Given the description of an element on the screen output the (x, y) to click on. 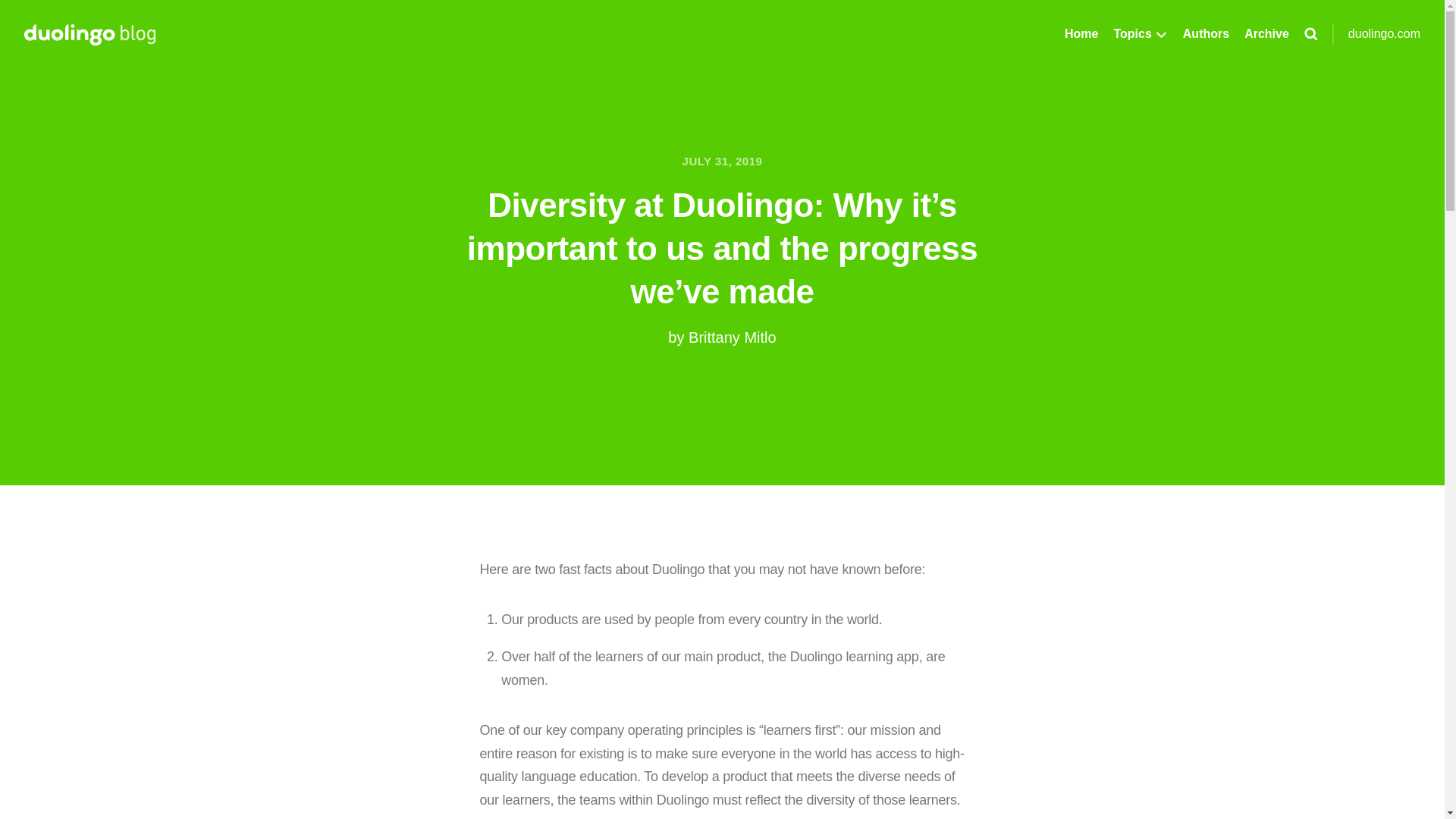
Authors (1205, 33)
Archive (1266, 33)
Home (1080, 33)
duolingo.com (1384, 33)
Brittany Mitlo (732, 337)
